Given the description of an element on the screen output the (x, y) to click on. 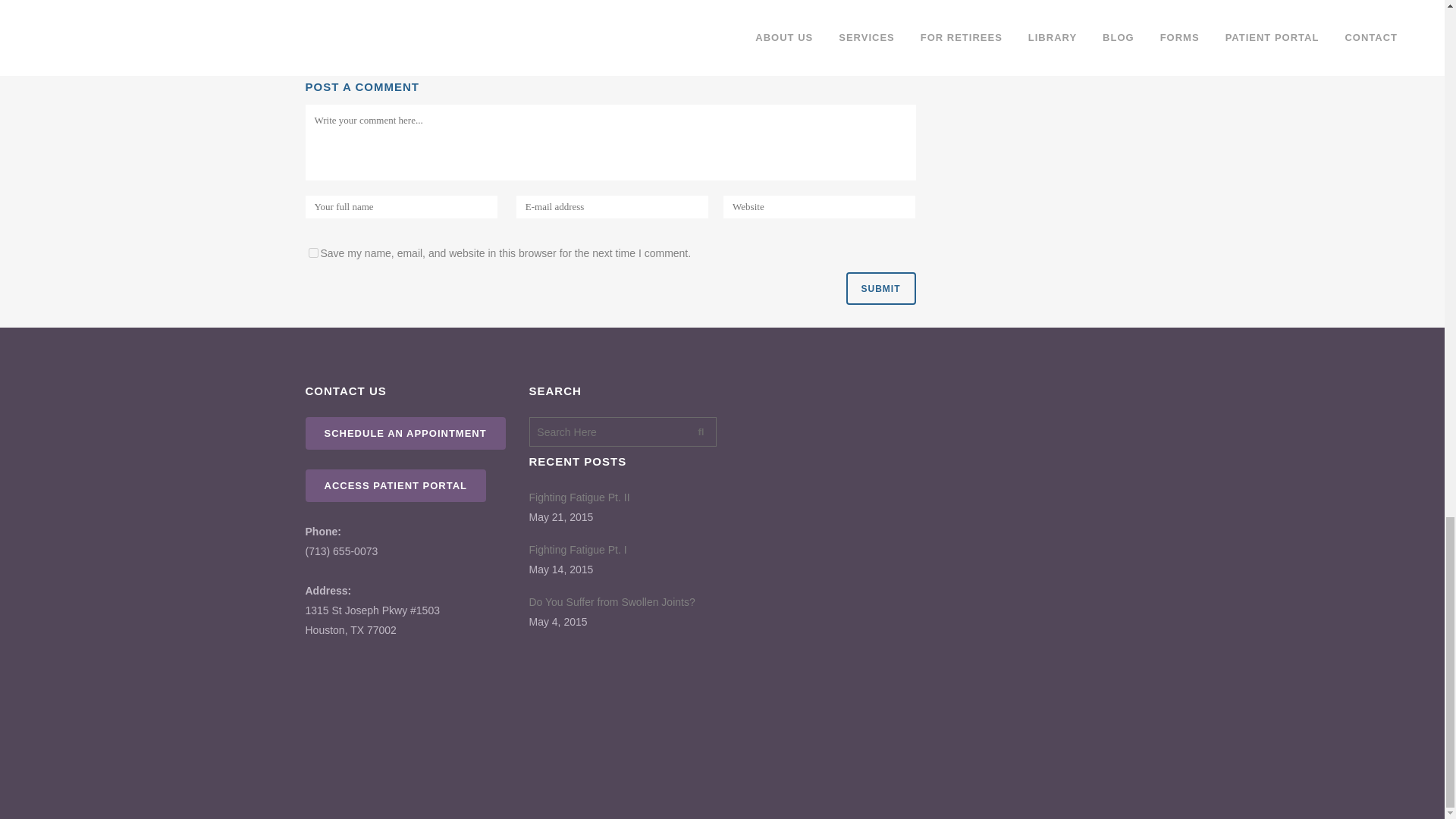
Submit (880, 287)
yes (312, 252)
Submit (880, 287)
